Given the description of an element on the screen output the (x, y) to click on. 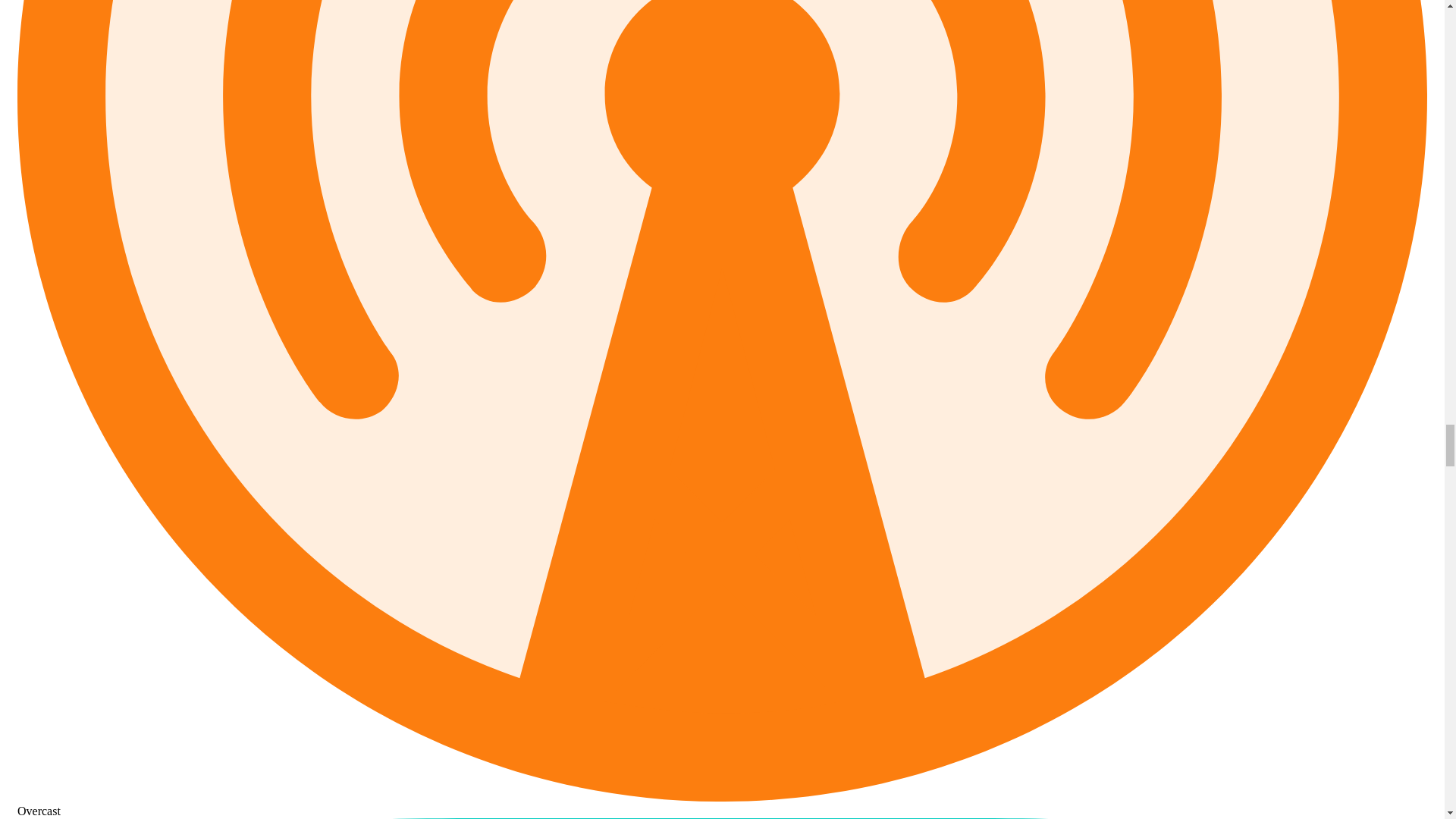
Overcast (721, 804)
